Given the description of an element on the screen output the (x, y) to click on. 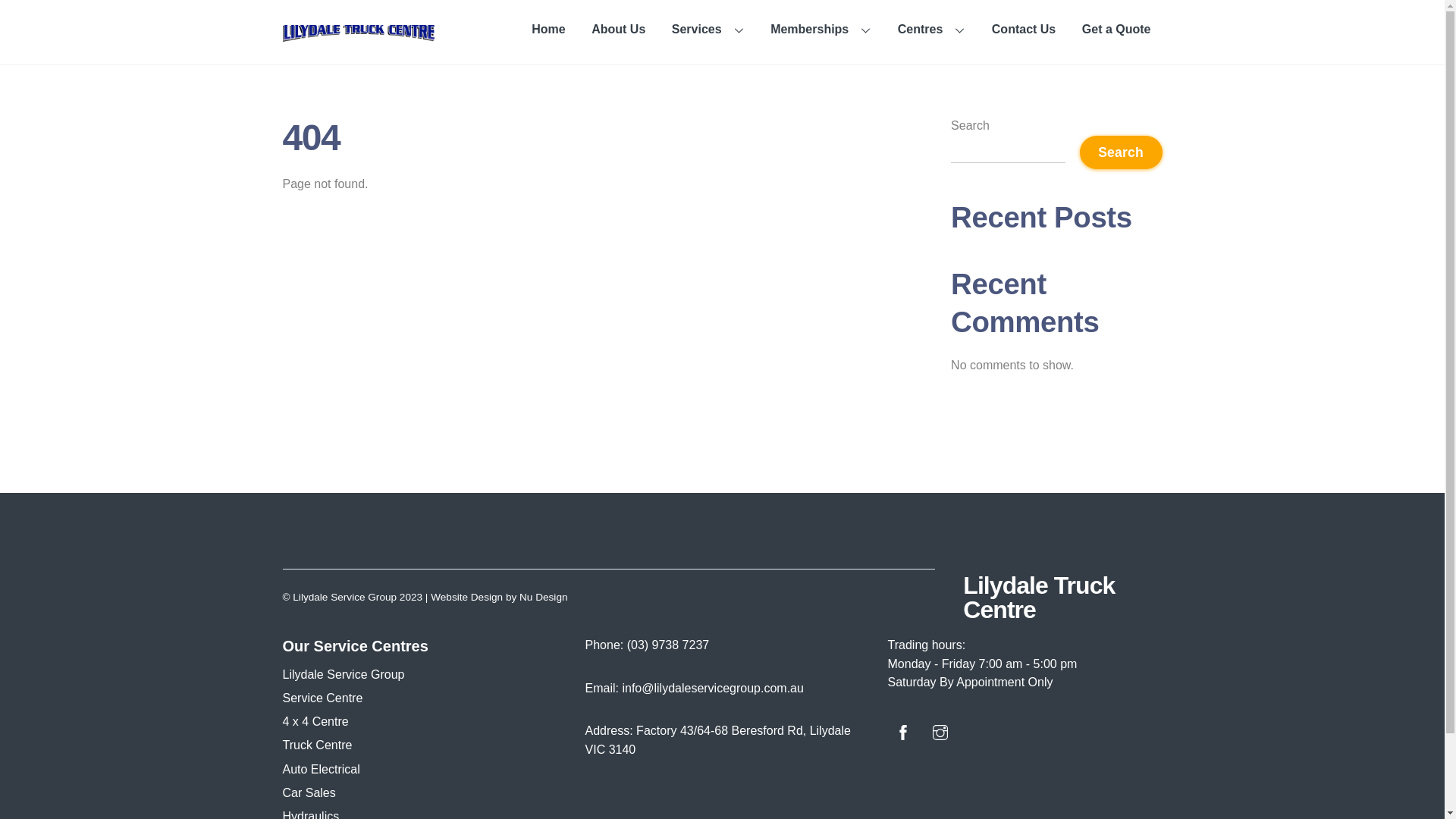
Lilydale Truck Centre Element type: hover (357, 31)
4 x 4 Centre Element type: text (315, 721)
Lilydale Service Group Element type: text (343, 674)
Auto Electrical Element type: text (320, 768)
Factory 43/64-68 Beresford Rd, Lilydale VIC 3140 Element type: text (717, 740)
Get a Quote Element type: text (1116, 29)
About Us Element type: text (618, 29)
Services Element type: text (708, 29)
Service Centre Element type: text (322, 697)
Lilydale-Truck-Centre-logo Element type: hover (357, 33)
(03) 9738 7237 Element type: text (668, 644)
info@lilydaleservicegroup.com.au Element type: text (712, 687)
Search Element type: text (1120, 152)
Lilydale Truck Centre Element type: text (1038, 597)
Car Sales Element type: text (308, 792)
Website Design Element type: text (466, 596)
Home Element type: text (548, 29)
Memberships Element type: text (820, 29)
Nu Design Element type: text (543, 596)
Truck Centre Element type: text (316, 744)
Centres Element type: text (931, 29)
Contact Us Element type: text (1023, 29)
